Given the description of an element on the screen output the (x, y) to click on. 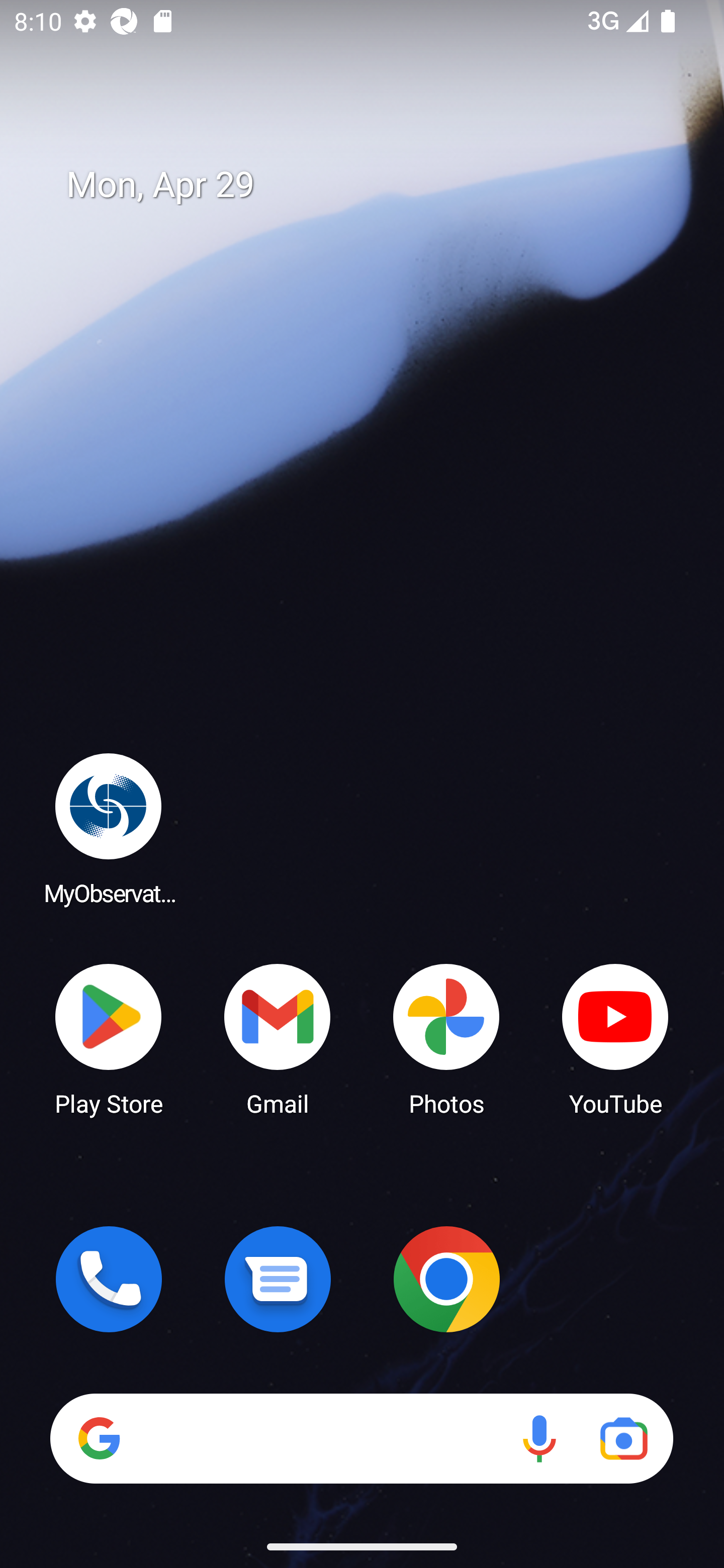
Mon, Apr 29 (375, 184)
MyObservatory (108, 828)
Play Store (108, 1038)
Gmail (277, 1038)
Photos (445, 1038)
YouTube (615, 1038)
Phone (108, 1279)
Messages (277, 1279)
Chrome (446, 1279)
Voice search (539, 1438)
Google Lens (623, 1438)
